Given the description of an element on the screen output the (x, y) to click on. 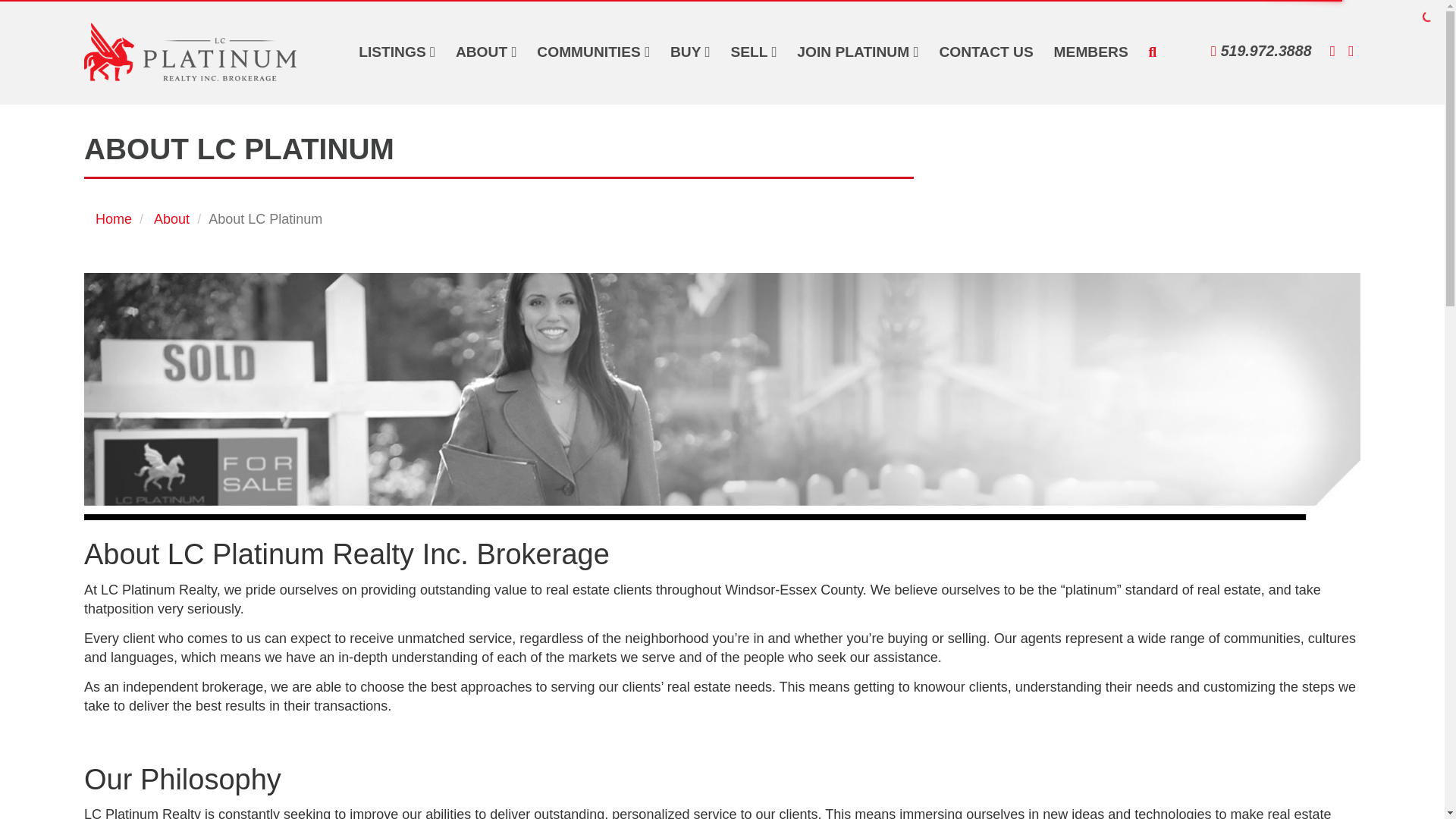
LISTINGS (397, 51)
